Given the description of an element on the screen output the (x, y) to click on. 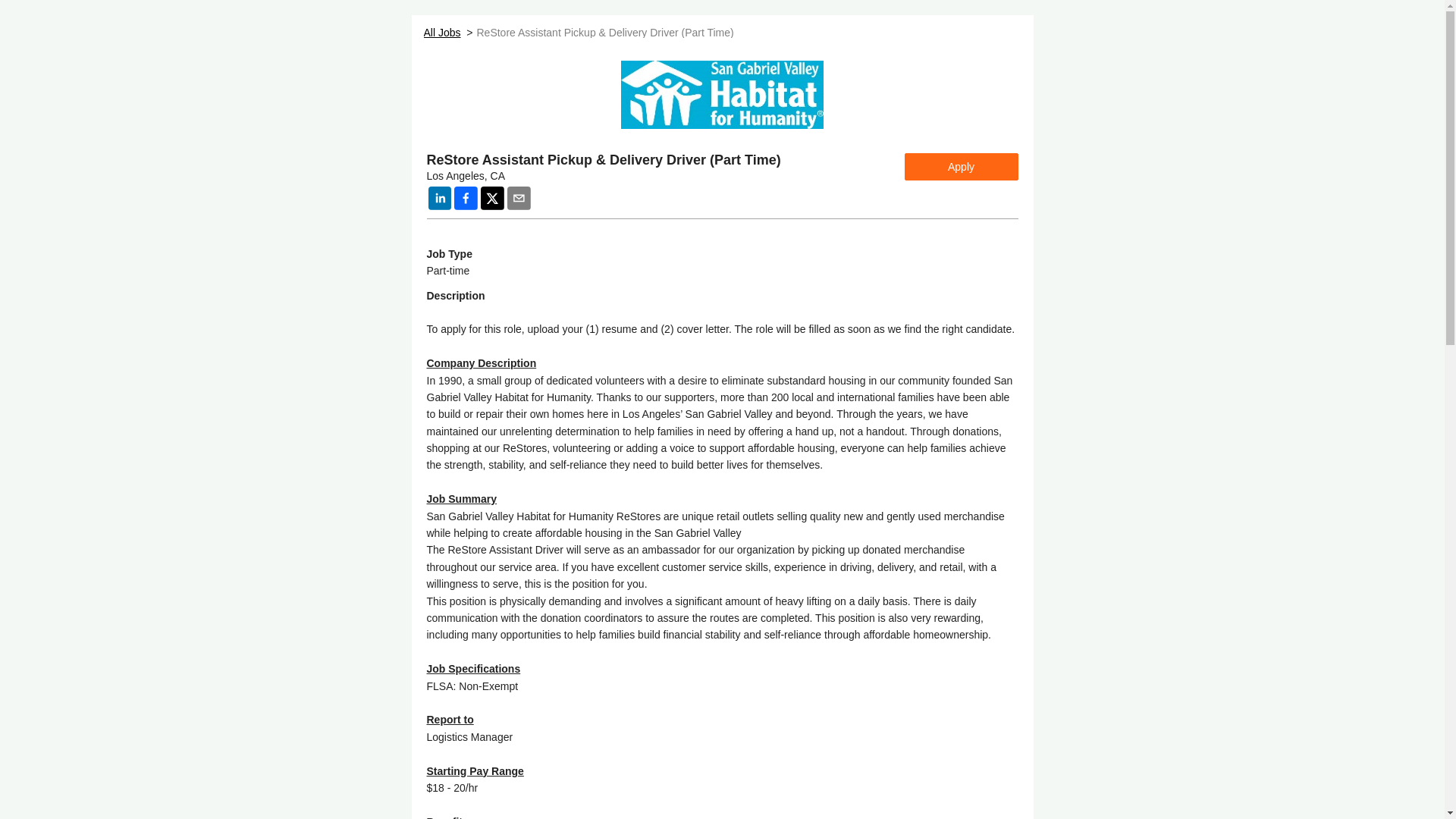
All Jobs (441, 32)
Apply (960, 166)
All Jobs (441, 32)
